Given the description of an element on the screen output the (x, y) to click on. 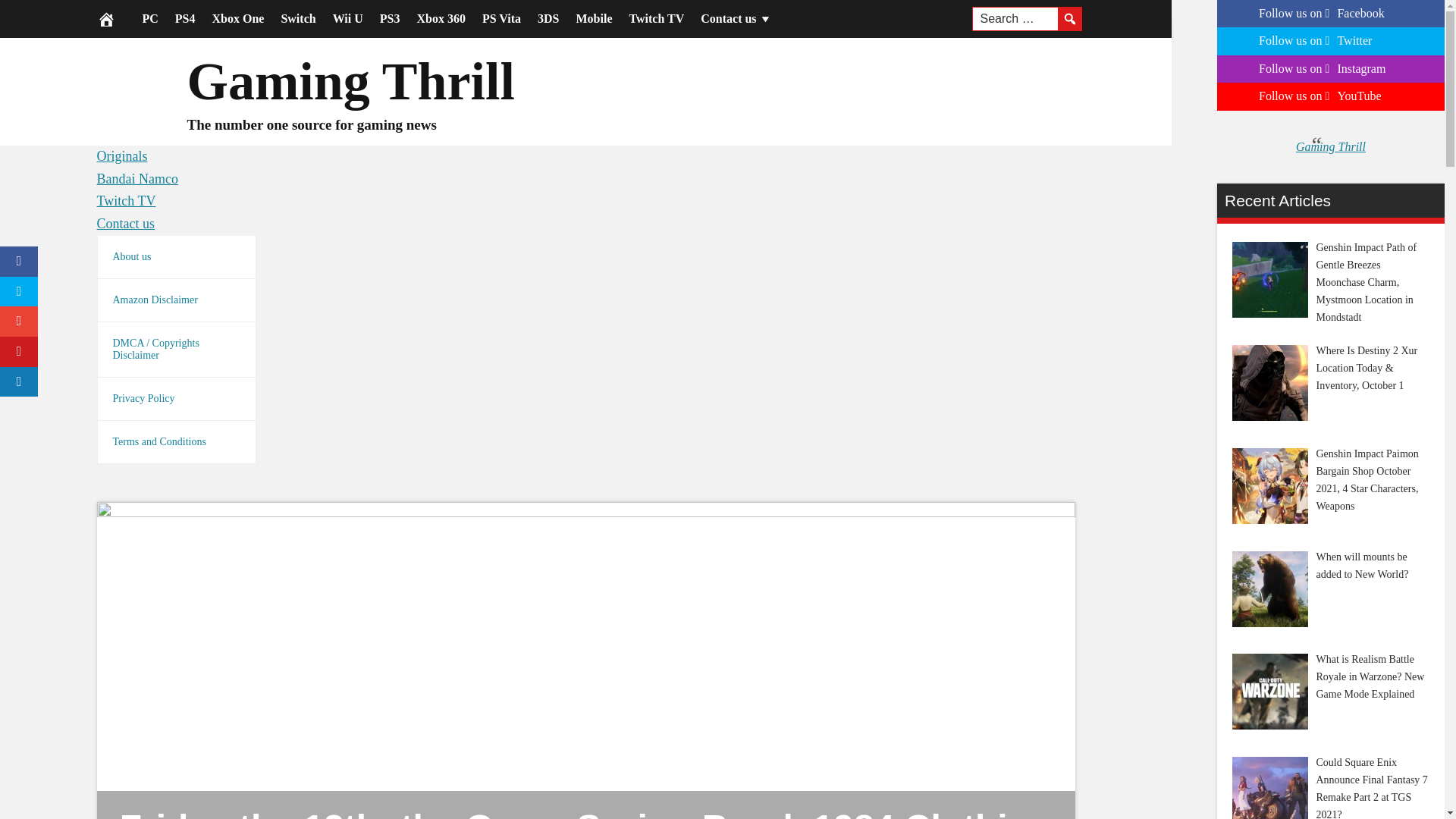
Wii U (347, 18)
Switch (297, 18)
PS4 (185, 18)
PS3 (390, 18)
Xbox One (237, 18)
